Given the description of an element on the screen output the (x, y) to click on. 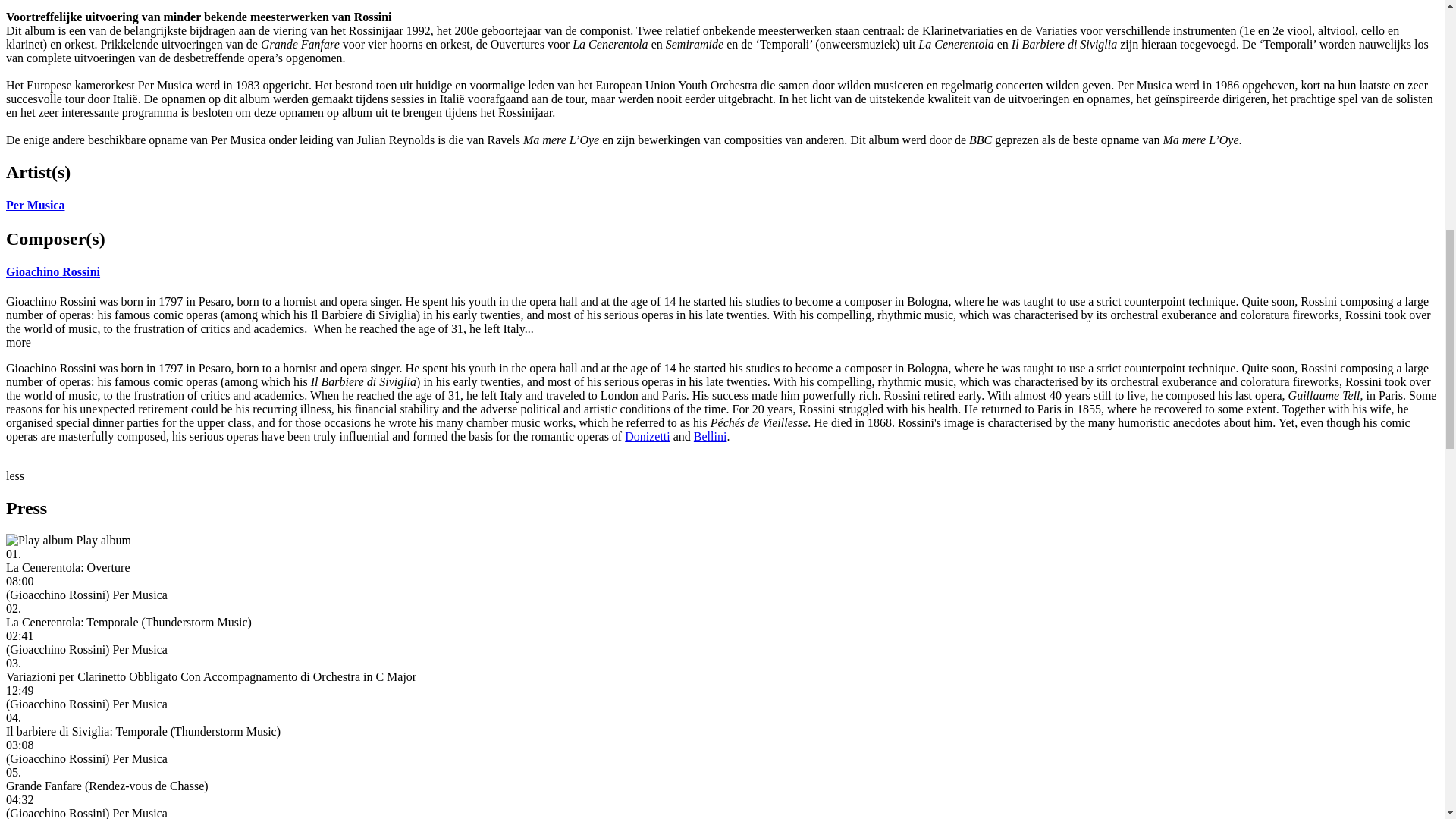
Donizetti (646, 436)
Bellini (710, 436)
Per Musica (34, 205)
Play album (38, 540)
Gioachino Rossini (52, 271)
